Given the description of an element on the screen output the (x, y) to click on. 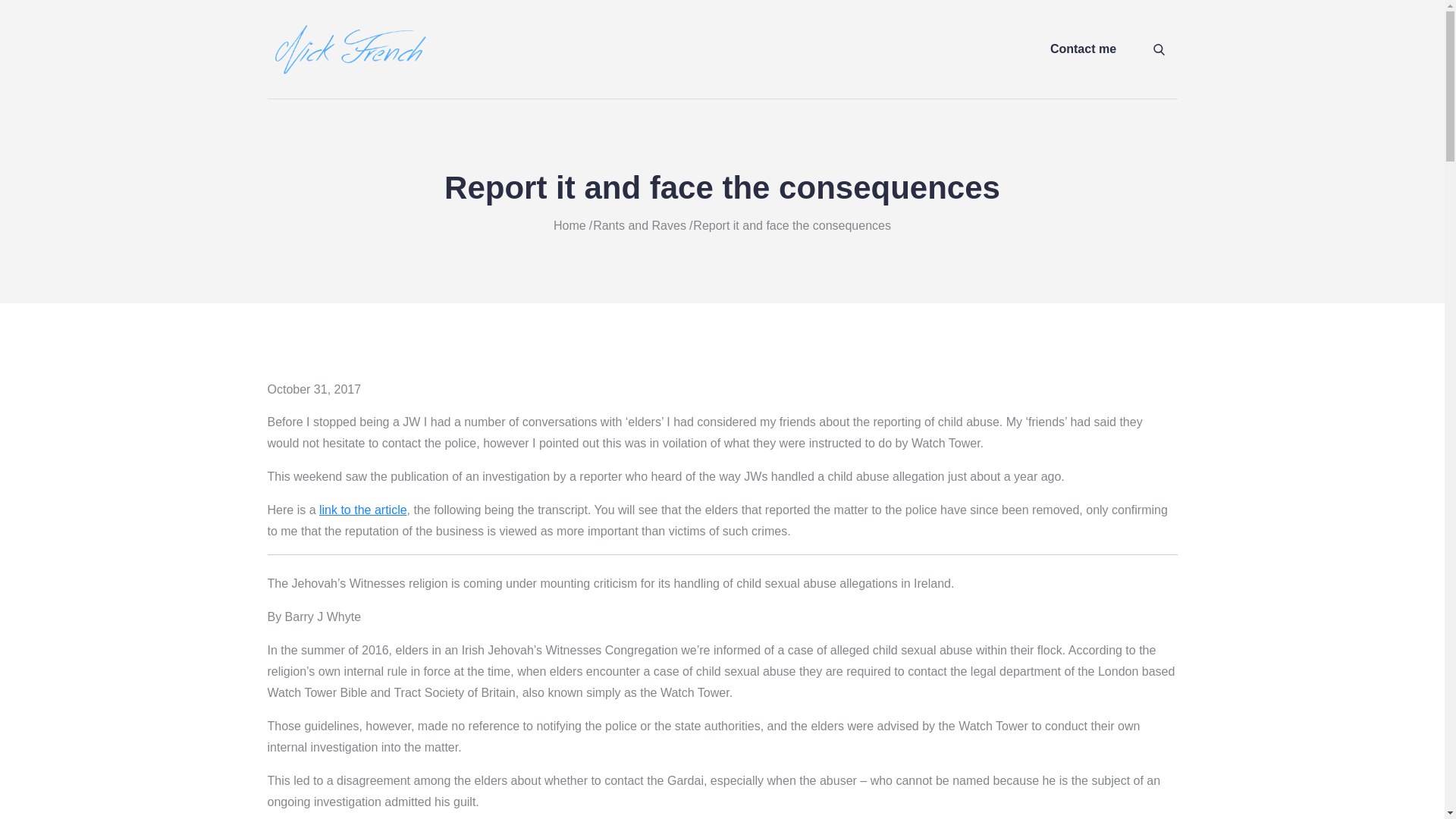
October 31, 2017 (313, 389)
Home (569, 225)
Rants and Raves (638, 225)
Contact me (1082, 49)
Nick French (502, 63)
link to the article (362, 509)
